Given the description of an element on the screen output the (x, y) to click on. 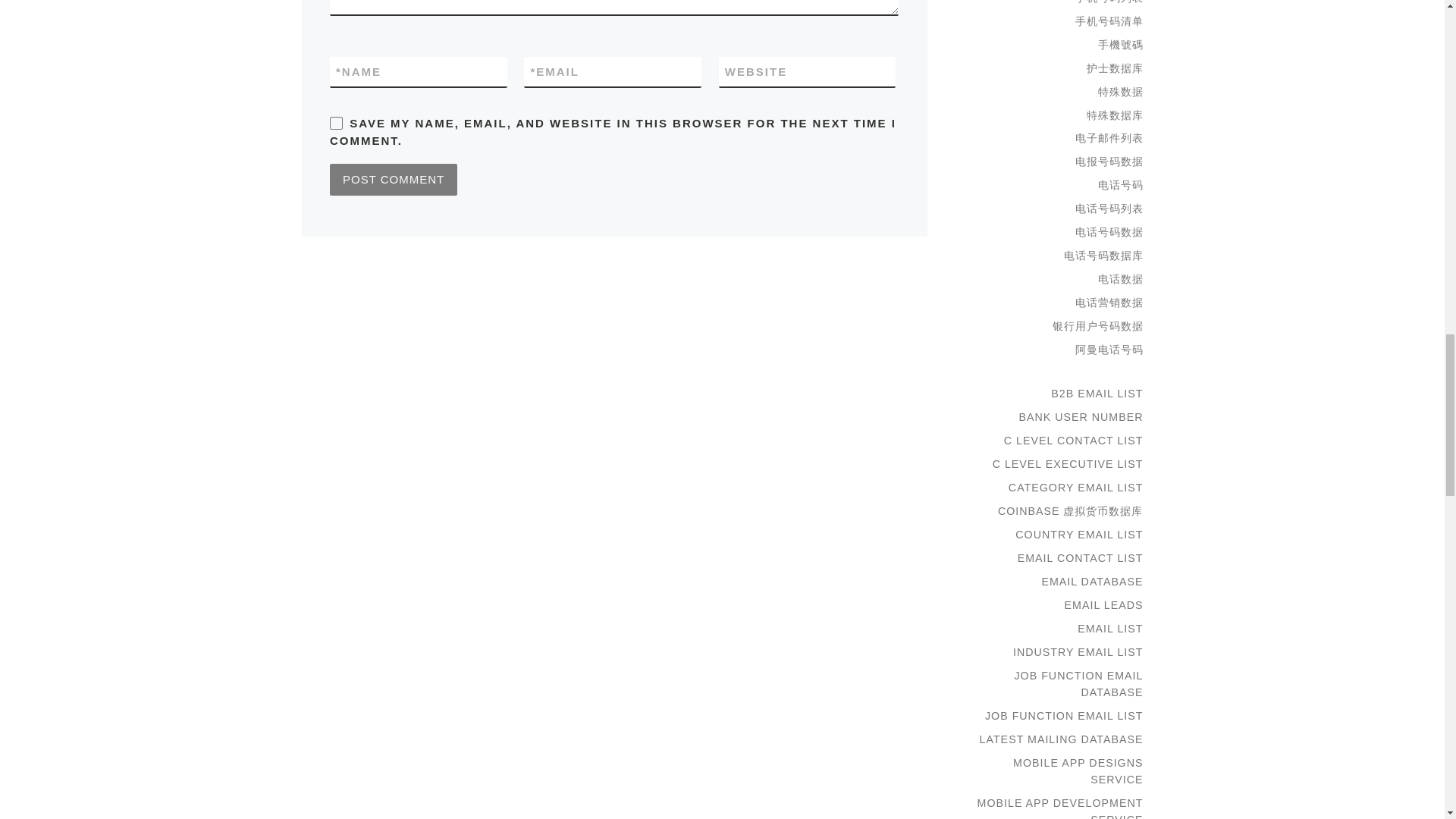
Post Comment (393, 179)
yes (336, 123)
